Given the description of an element on the screen output the (x, y) to click on. 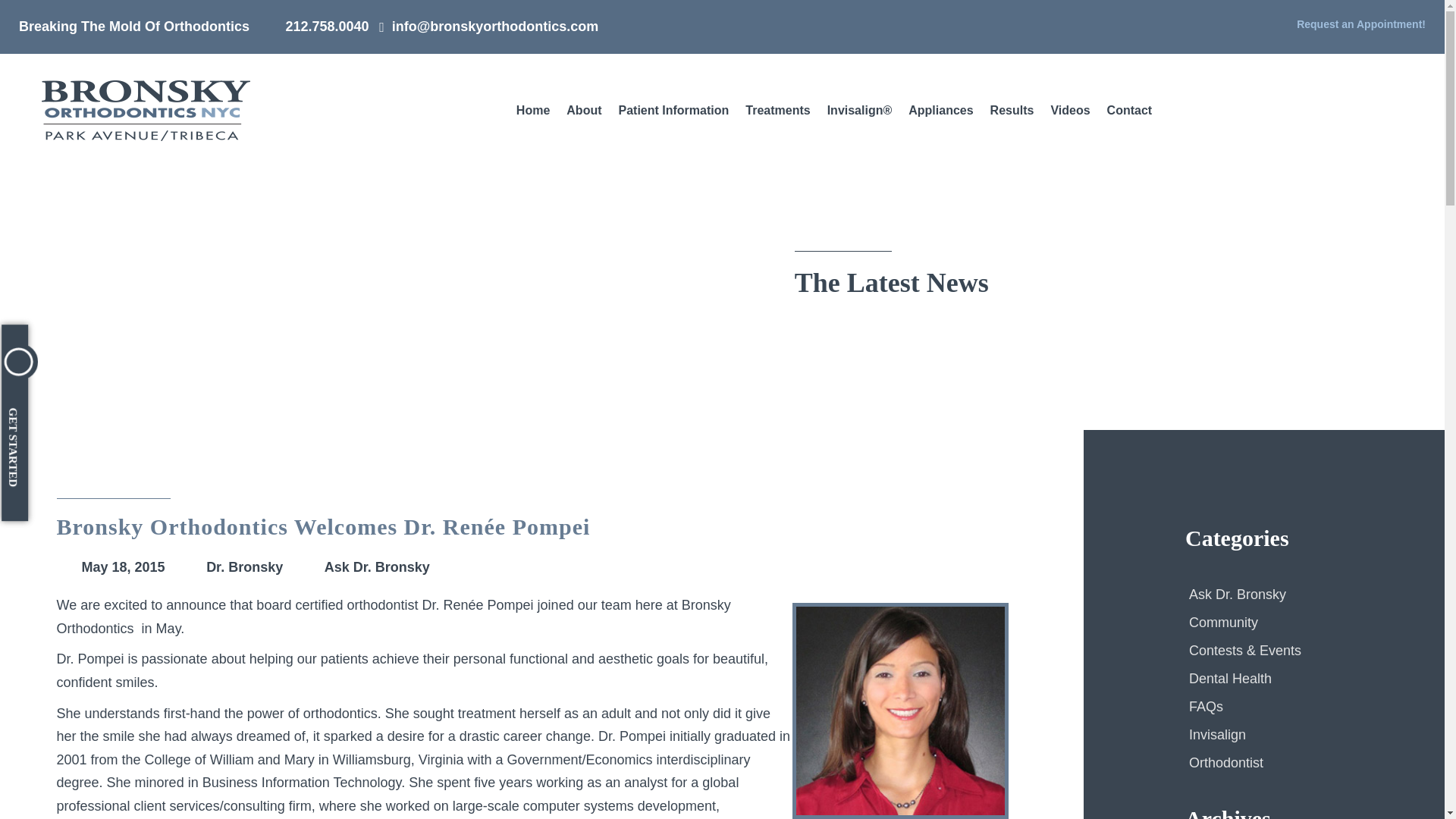
212.758.0040 (314, 26)
May 18, 2015 (113, 566)
Ask Dr. Bronsky (365, 566)
212.758.0040 (314, 26)
Patient Information (673, 110)
Breaking The Mold Of Orthodontics (133, 26)
About (583, 110)
Dr. Bronsky (232, 566)
Request an Appointment! (1348, 24)
Home (532, 110)
